Given the description of an element on the screen output the (x, y) to click on. 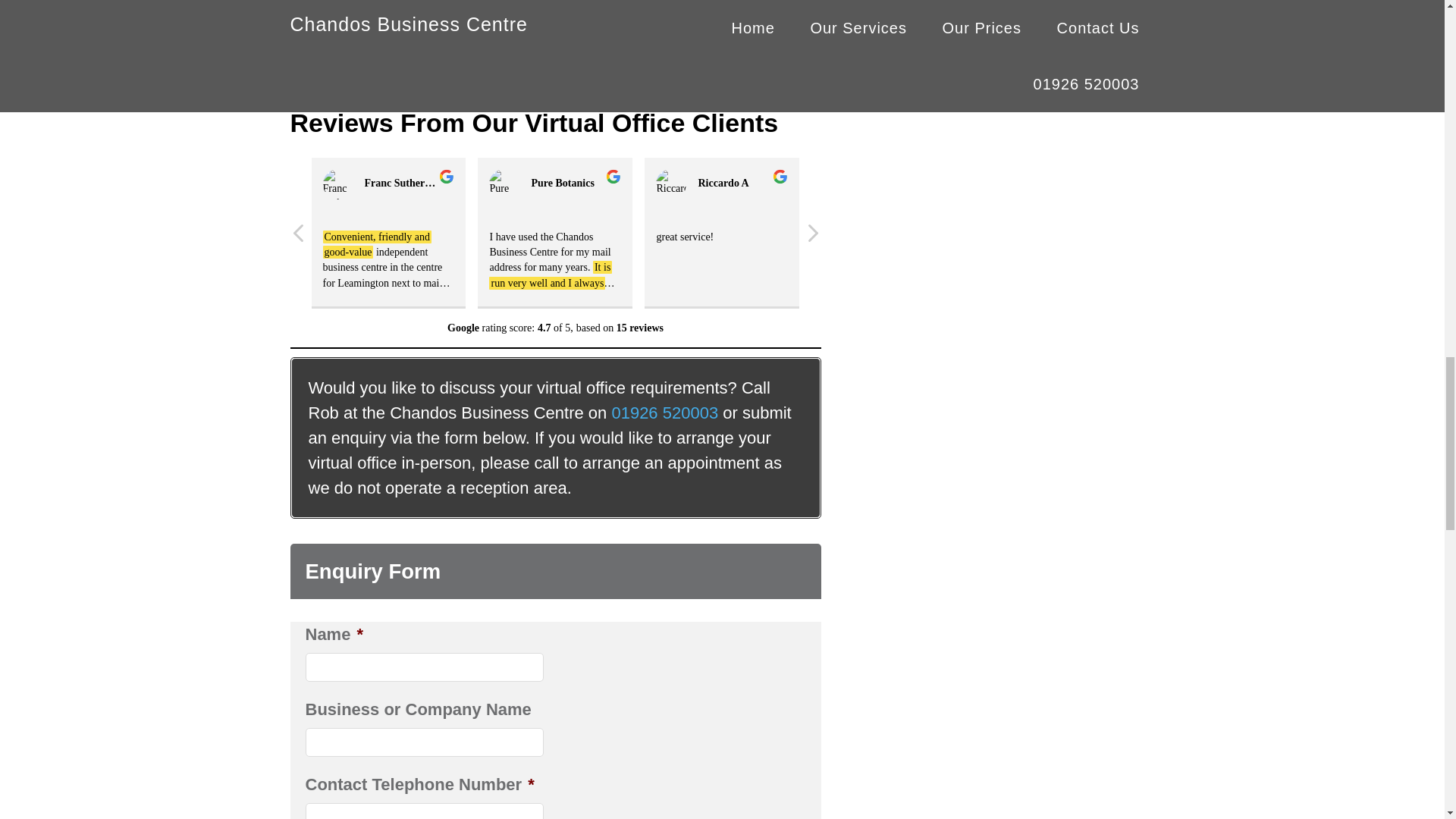
01926 520003 (664, 412)
